Given the description of an element on the screen output the (x, y) to click on. 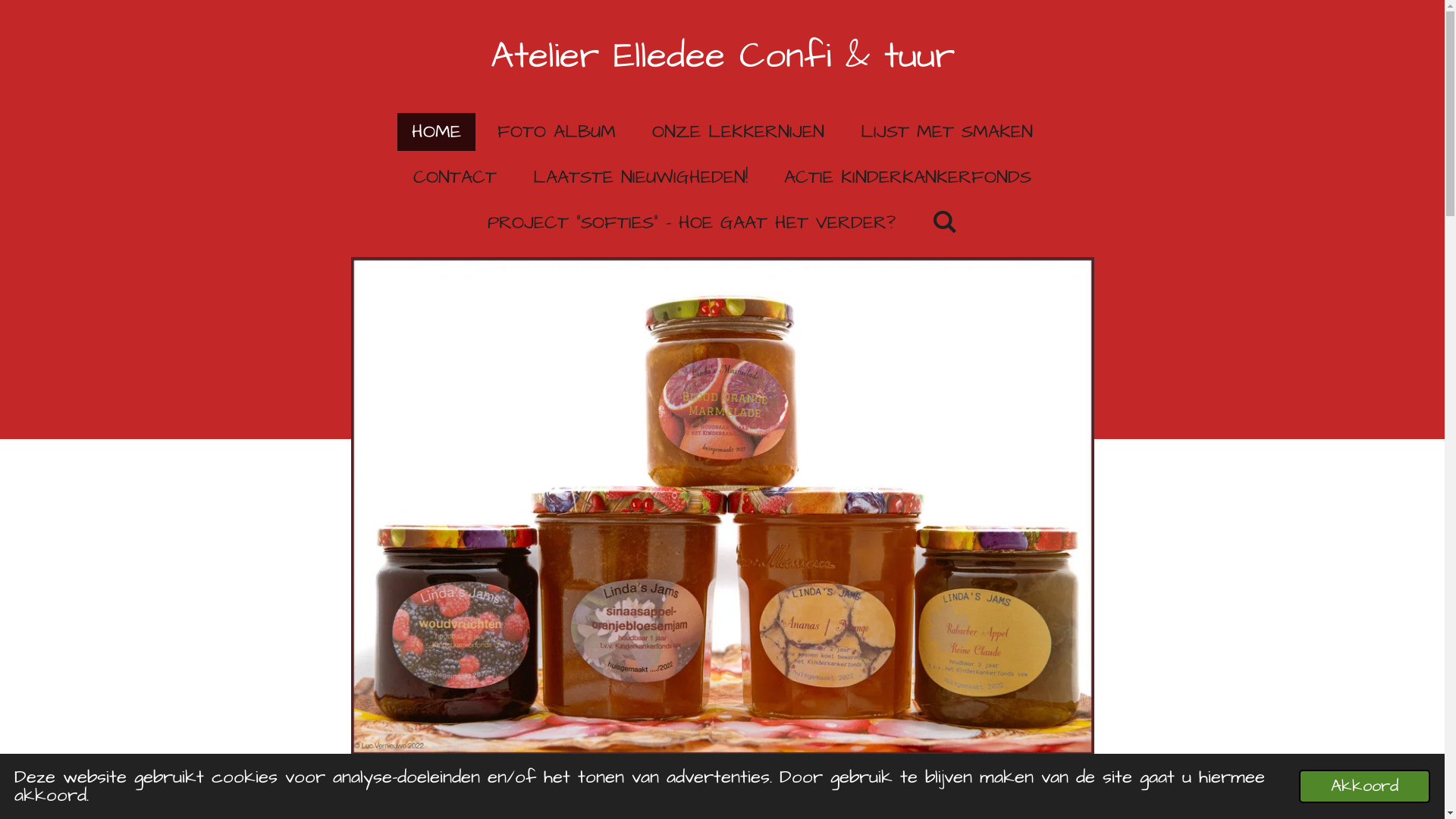
LAATSTE NIEUWIGHEDEN! Element type: text (640, 177)
ACTIE KINDERKANKERFONDS Element type: text (907, 177)
FOTO ALBUM Element type: text (556, 131)
Akkoord Element type: text (1364, 786)
PROJECT "SOFTIES" - HOE GAAT HET VERDER? Element type: text (691, 222)
ONZE LEKKERNIJEN Element type: text (737, 131)
Zoeken Element type: hover (944, 222)
CONTACT Element type: text (454, 177)
LIJST MET SMAKEN Element type: text (946, 131)
HOME Element type: text (436, 131)
